Given the description of an element on the screen output the (x, y) to click on. 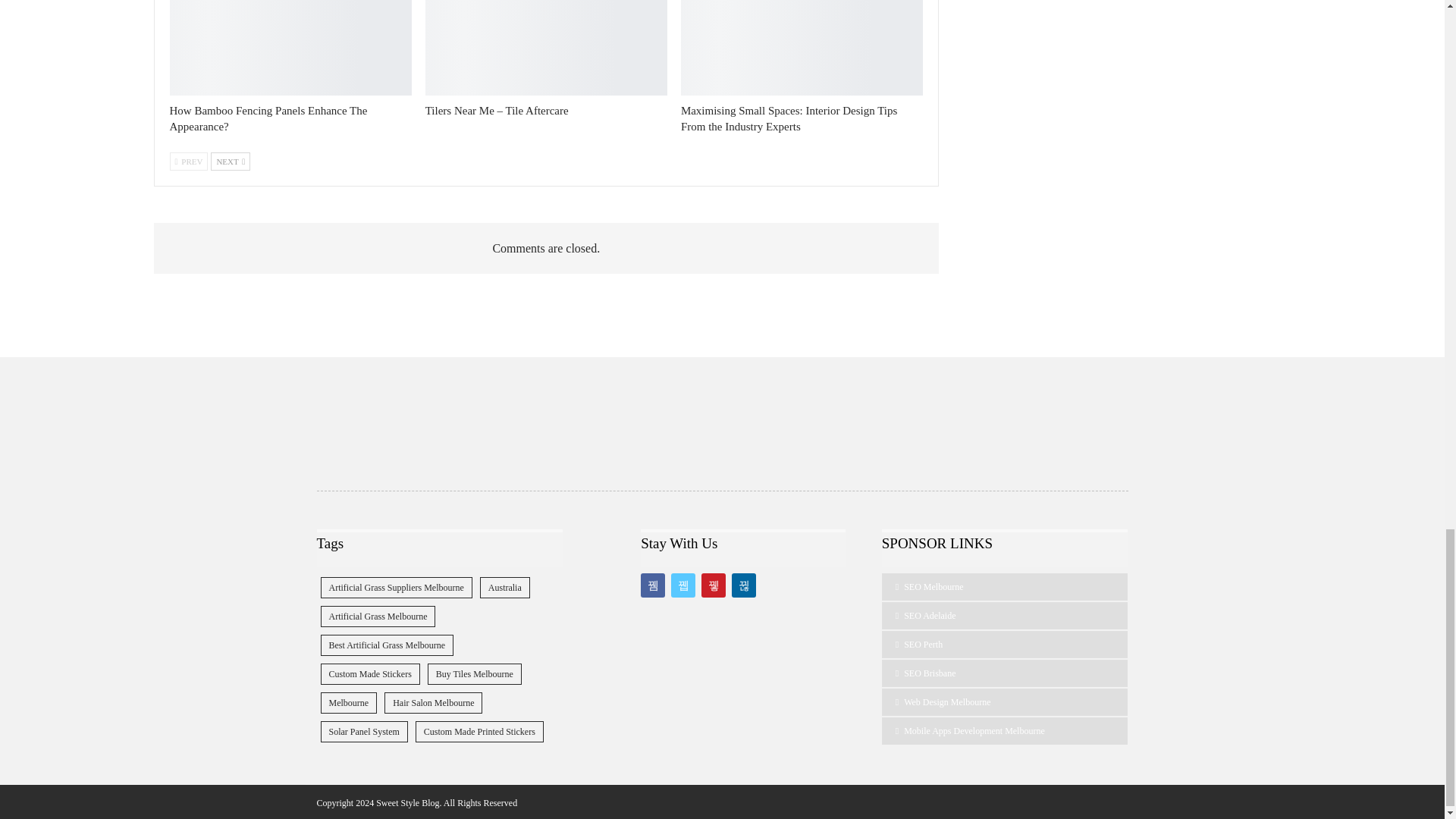
How Bamboo Fencing Panels Enhance The Appearance?  (269, 117)
